Given the description of an element on the screen output the (x, y) to click on. 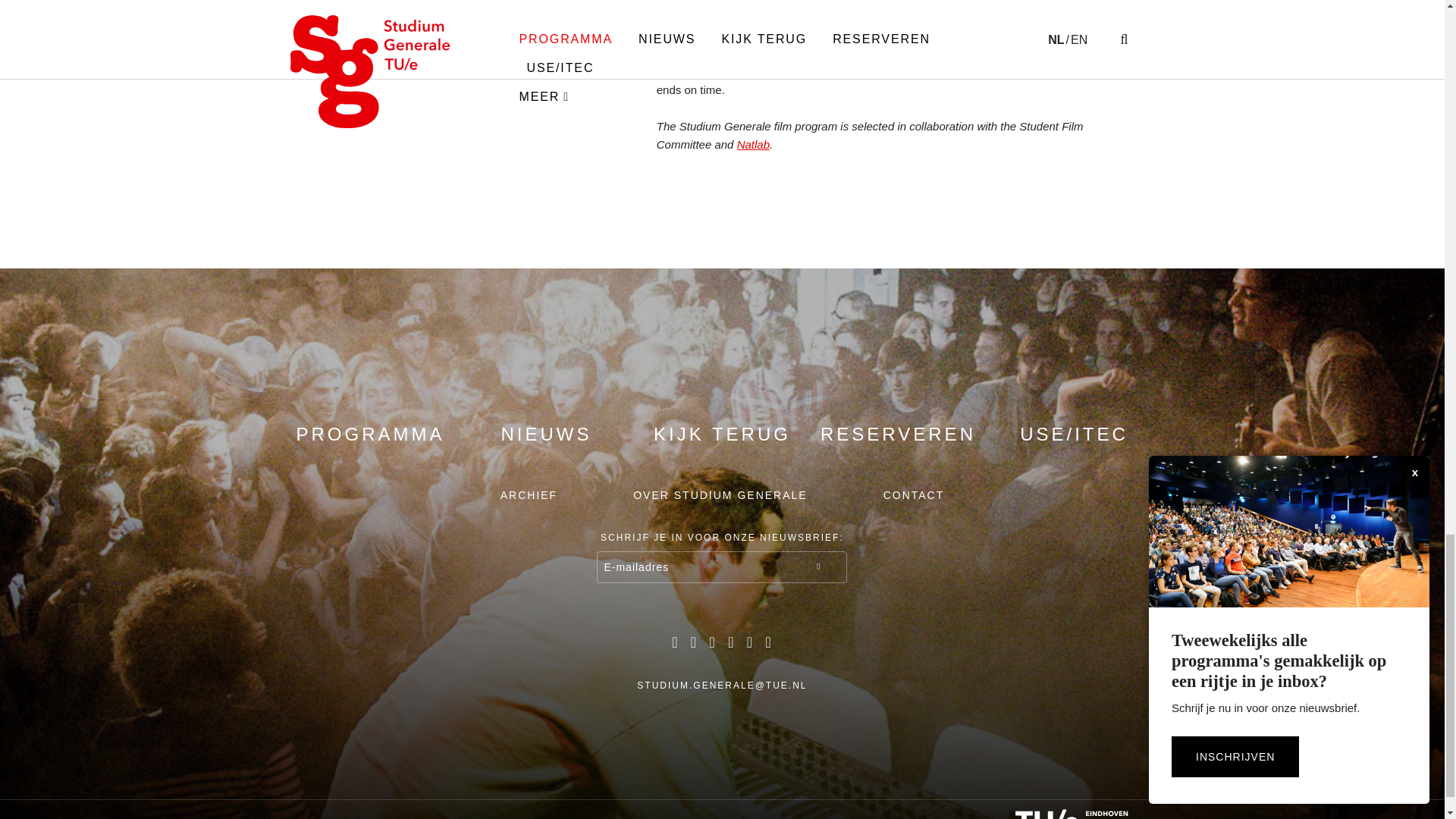
Natlab (753, 144)
OVER STUDIUM GENERALE (719, 494)
ARCHIEF (528, 494)
RESERVEREN (898, 434)
KIJK TERUG (721, 434)
PROGRAMMA (369, 434)
Technische Universiteit Eindhoven (1062, 814)
NIEUWS (545, 434)
CONTACT (913, 494)
Webdevelopment Den Bosch (891, 816)
